Given the description of an element on the screen output the (x, y) to click on. 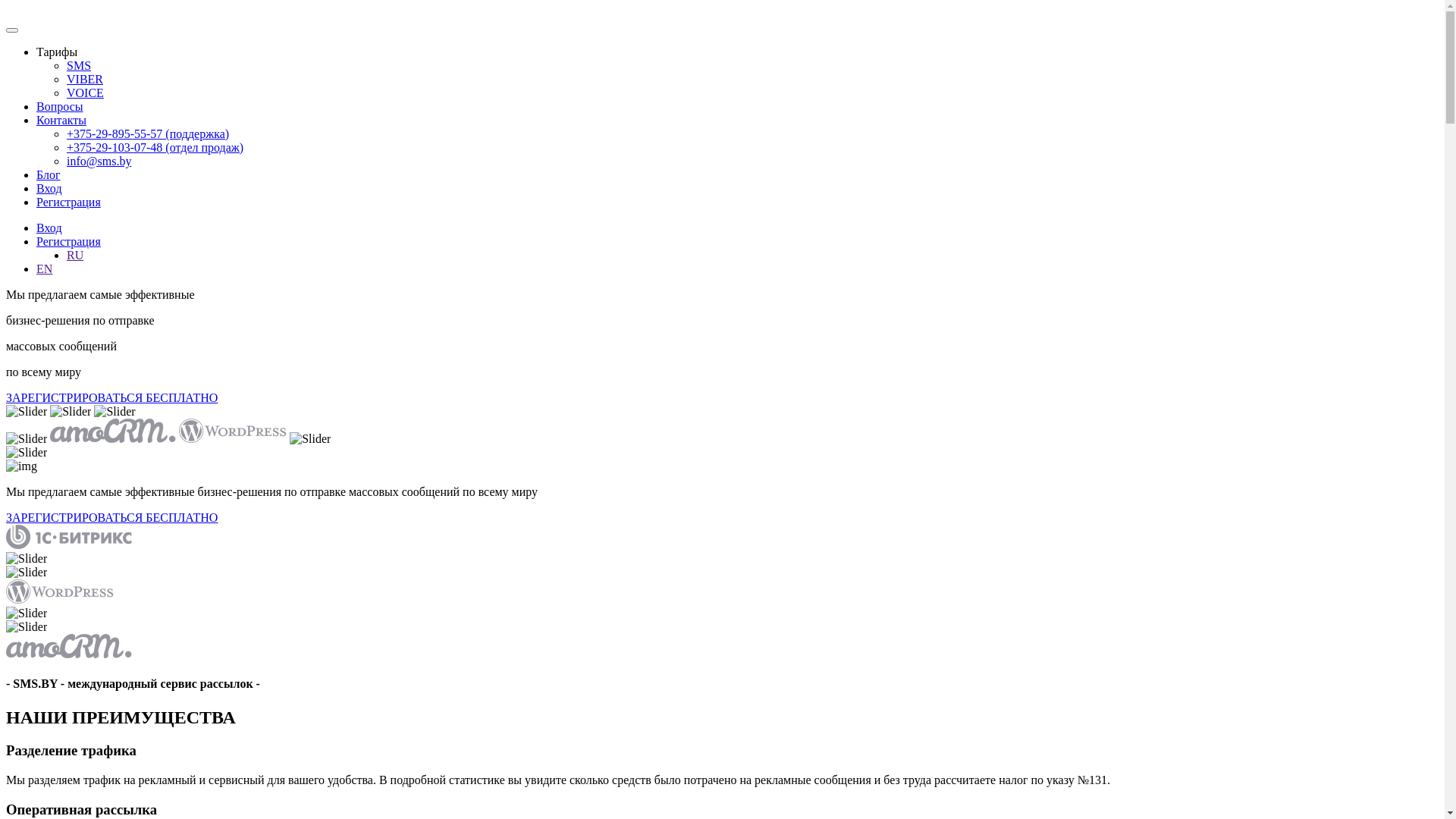
EN Element type: text (44, 268)
VIBER Element type: text (84, 78)
info@sms.by Element type: text (98, 160)
RU Element type: text (74, 254)
SMS Element type: text (78, 65)
VOICE Element type: text (84, 92)
